Given the description of an element on the screen output the (x, y) to click on. 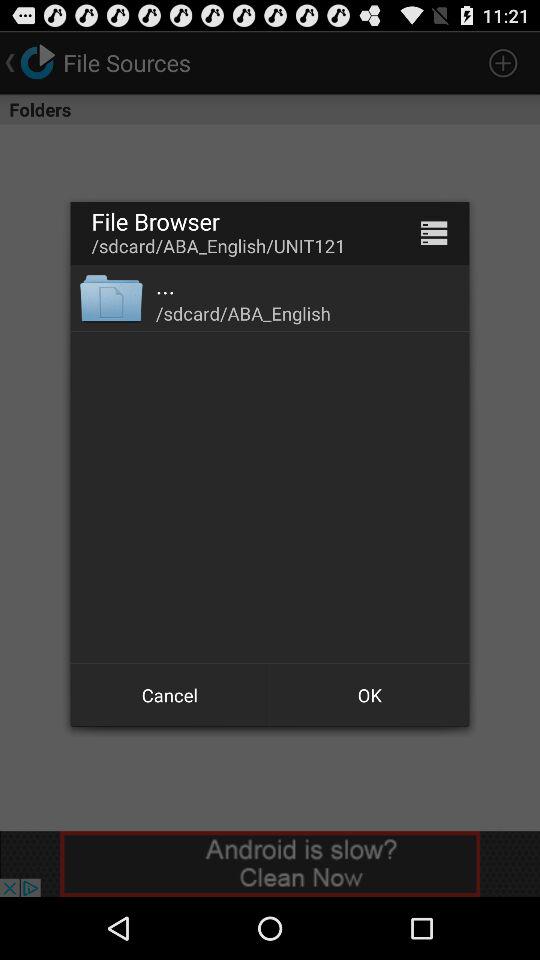
open button next to the ok item (169, 694)
